Given the description of an element on the screen output the (x, y) to click on. 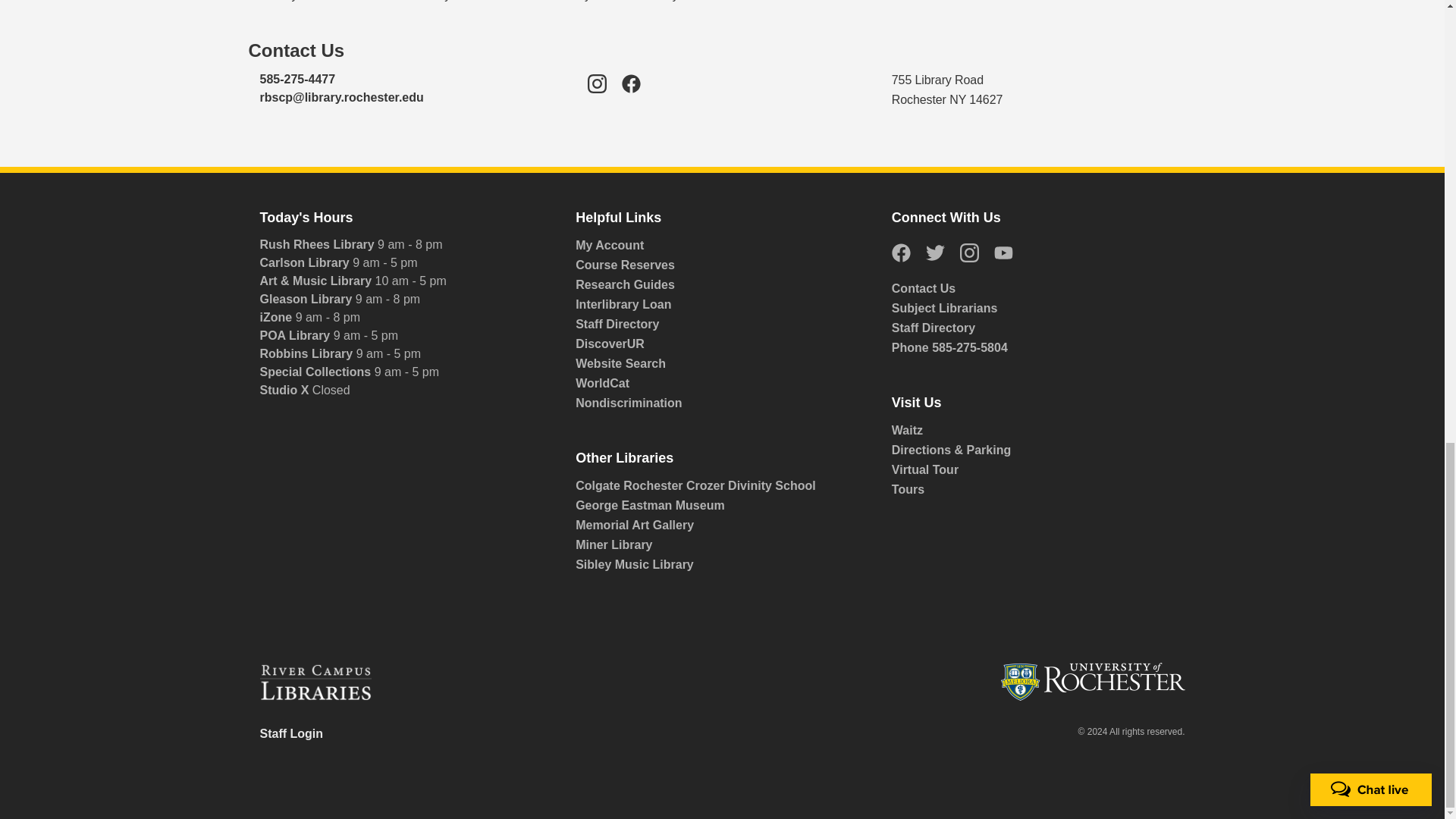
iZone (277, 317)
George Eastman Museum - Richard and Ronay Menschel Library (716, 505)
Real-time information on crowd levels in our spaces (1032, 430)
585-275-4477 (296, 78)
Gleason Library (307, 298)
Carlson Library (305, 262)
Instagram (597, 92)
Rush Rhees Library (318, 244)
University nondiscrimination statement (722, 403)
Facebook (630, 92)
